Given the description of an element on the screen output the (x, y) to click on. 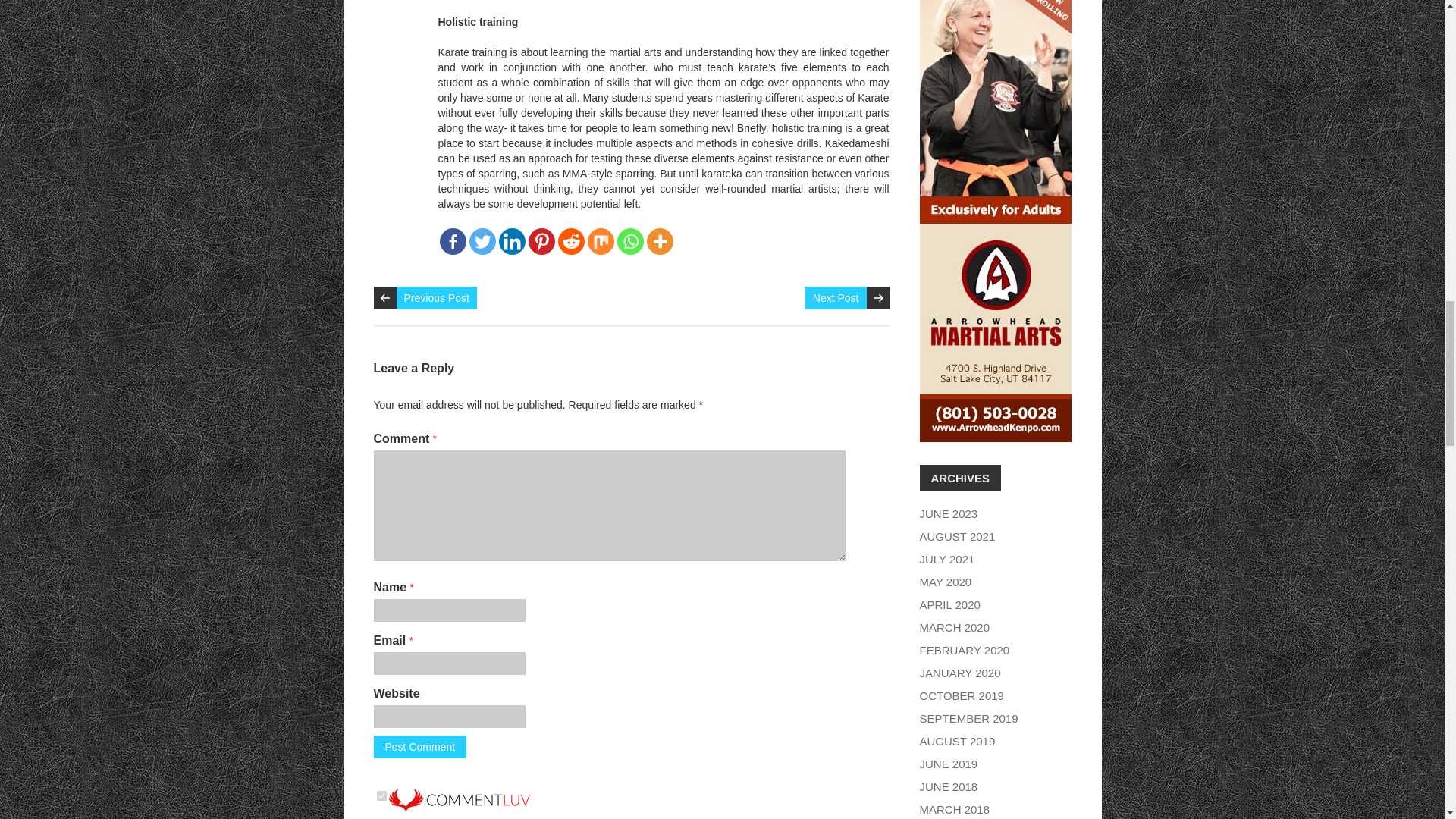
Reddit (571, 241)
Previous Post (436, 297)
Mix (599, 241)
Post Comment (418, 746)
CommentLuv is enabled (458, 796)
Linkedin (512, 241)
Next Post (835, 297)
on (380, 795)
More (659, 241)
Post Comment (418, 746)
Whatsapp (630, 241)
Pinterest (540, 241)
Twitter (481, 241)
Facebook (452, 241)
